Given the description of an element on the screen output the (x, y) to click on. 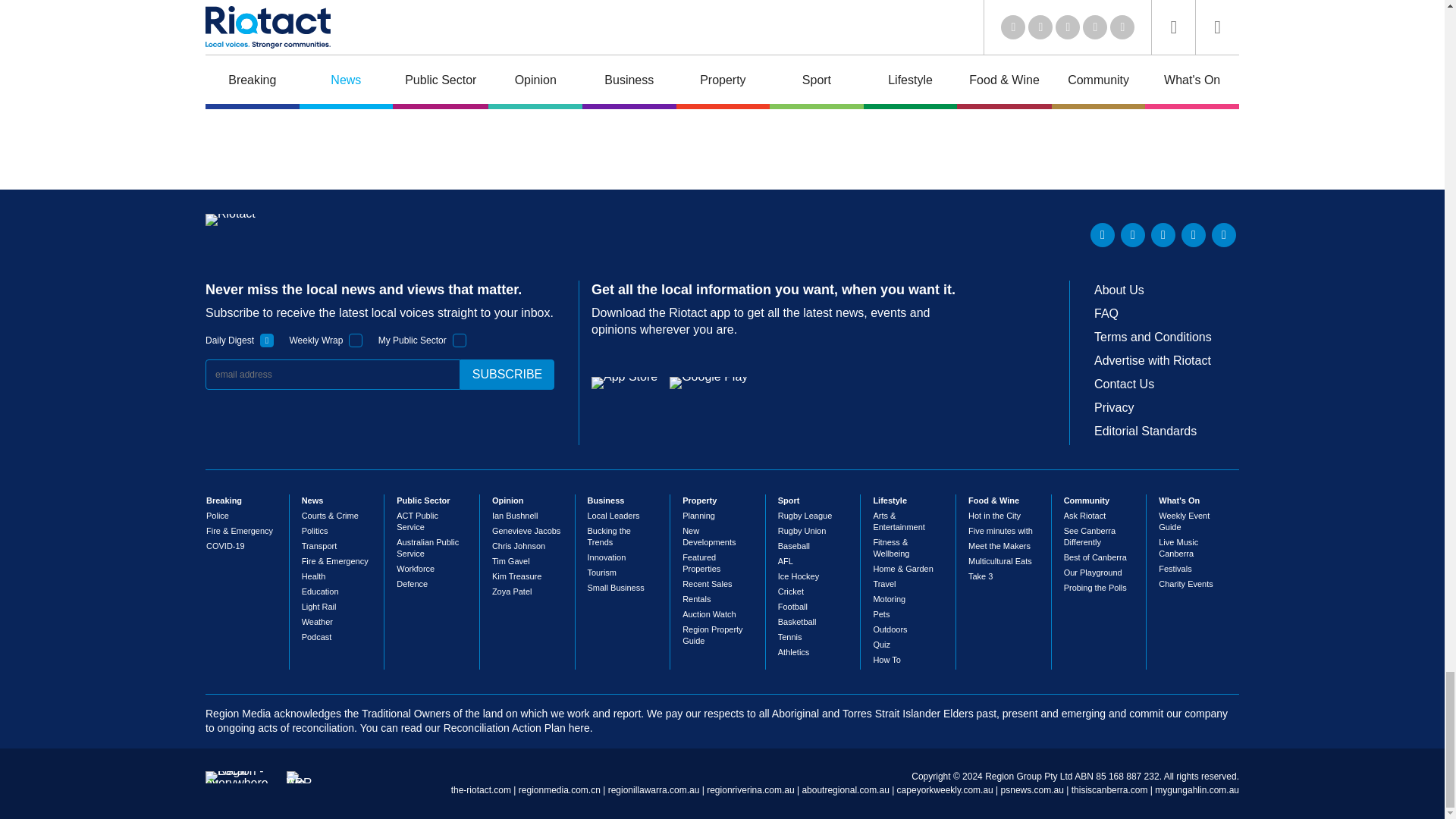
subscribe (507, 374)
1 (266, 340)
1 (355, 340)
LinkedIn (1102, 234)
1 (458, 340)
